Given the description of an element on the screen output the (x, y) to click on. 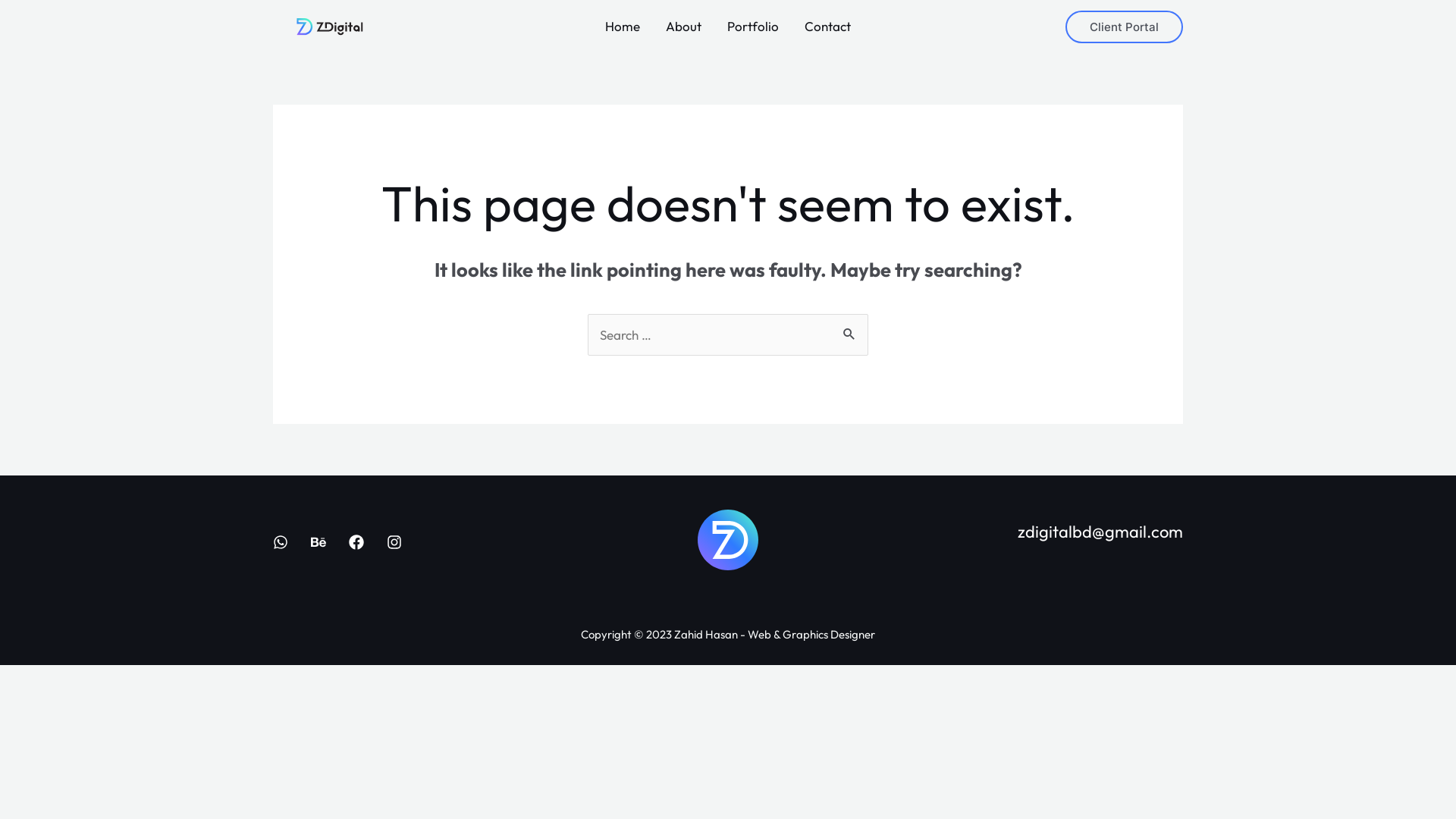
Home Element type: text (622, 26)
Portfolio Element type: text (752, 26)
About Element type: text (683, 26)
Contact Element type: text (827, 26)
Search Element type: text (851, 329)
Client Portal Element type: text (1124, 26)
